Given the description of an element on the screen output the (x, y) to click on. 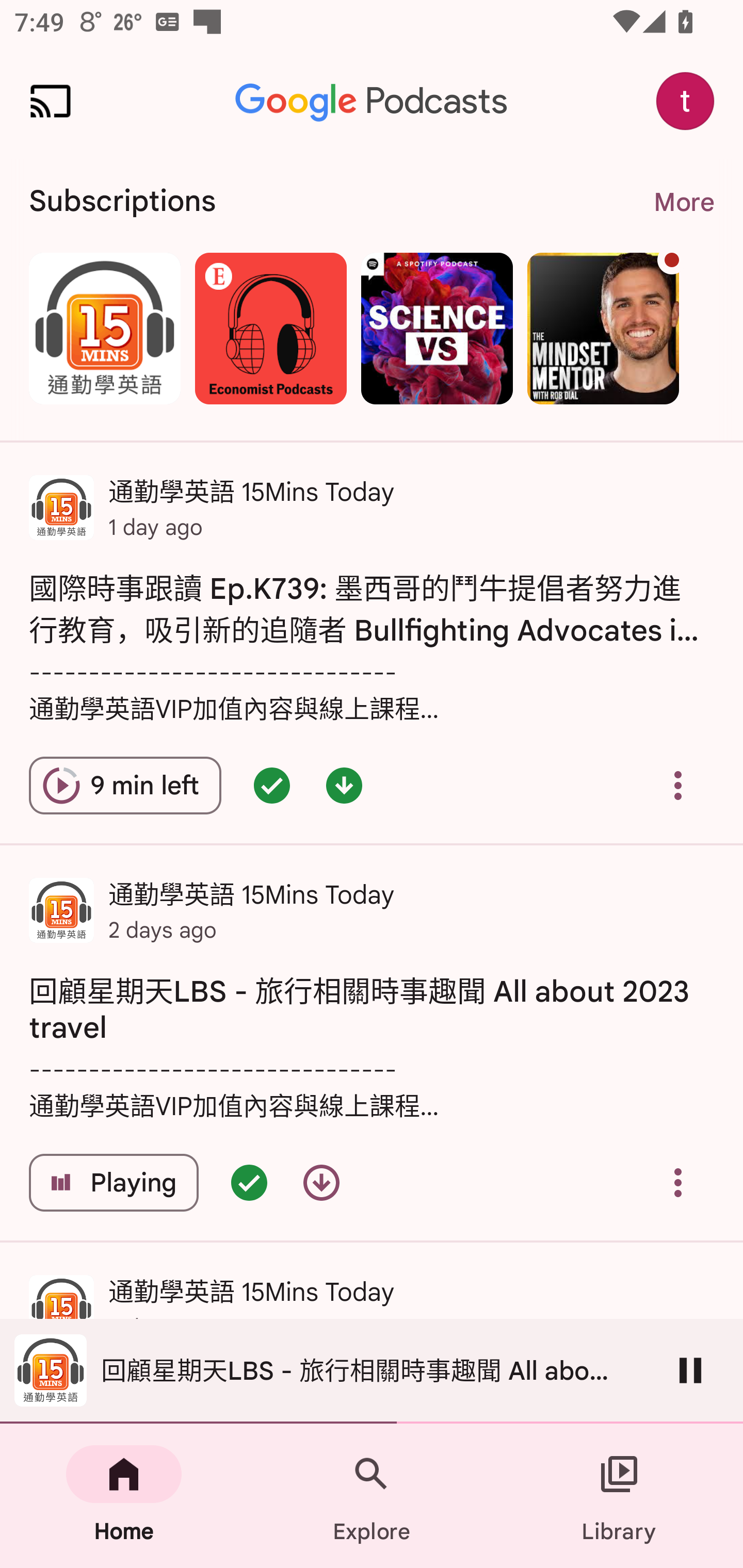
Cast. Disconnected (50, 101)
More More. Navigate to subscriptions page. (683, 202)
通勤學英語 15Mins Today (104, 328)
Economist Podcasts (270, 328)
Science Vs (436, 328)
The Mindset Mentor (603, 328)
Episode queued - double tap for options (271, 785)
Episode downloaded - double tap for options (344, 785)
Overflow menu (677, 785)
Episode queued - double tap for options (249, 1182)
Download episode (321, 1182)
Overflow menu (677, 1182)
Pause (690, 1370)
Explore (371, 1495)
Library (619, 1495)
